Given the description of an element on the screen output the (x, y) to click on. 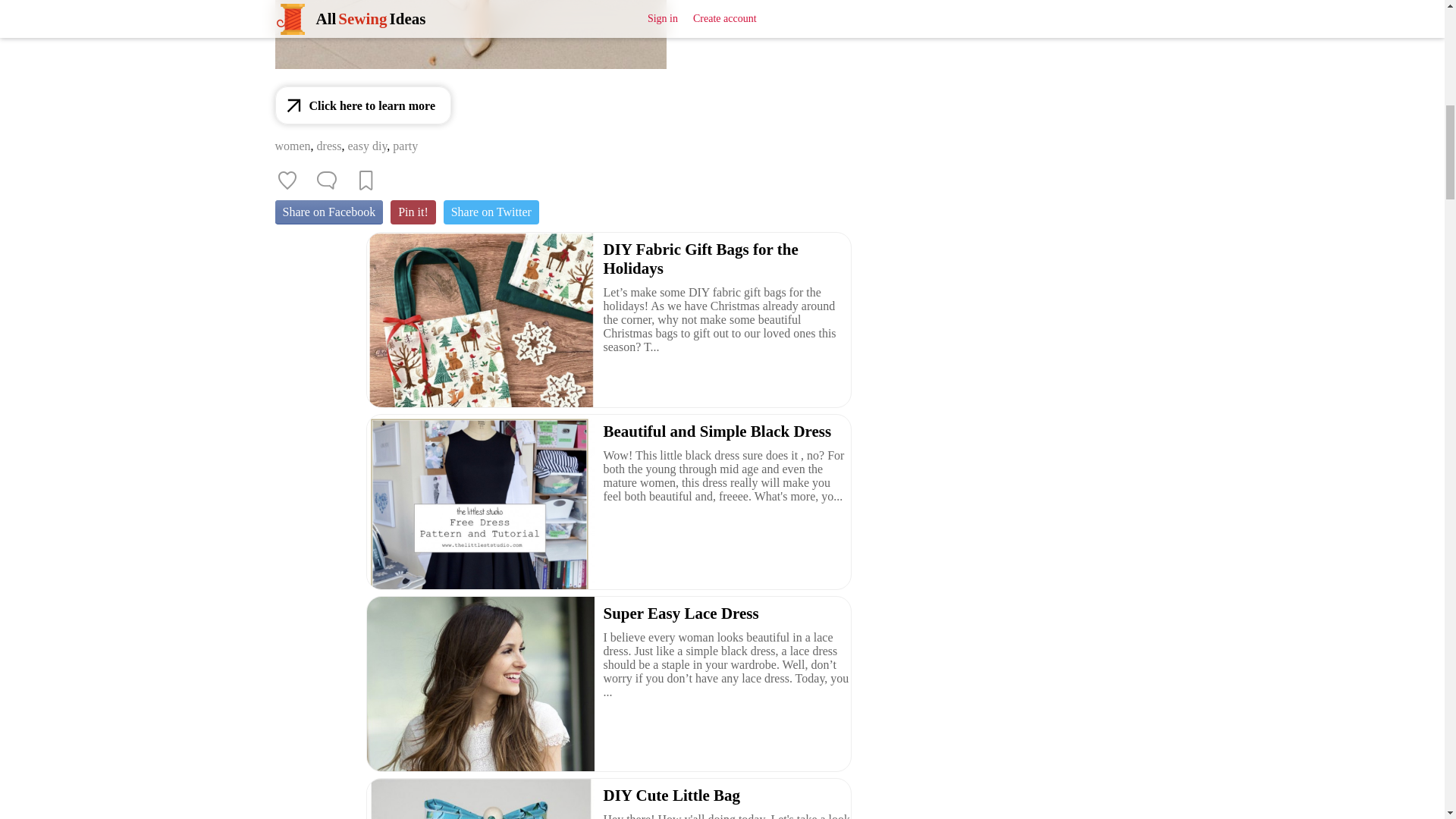
Share on Facebook (328, 211)
easy diy (367, 145)
party (405, 145)
women (292, 145)
Share on Twitter (491, 211)
Comments (325, 180)
Click here to learn more (362, 105)
Pin it! (412, 211)
